Given the description of an element on the screen output the (x, y) to click on. 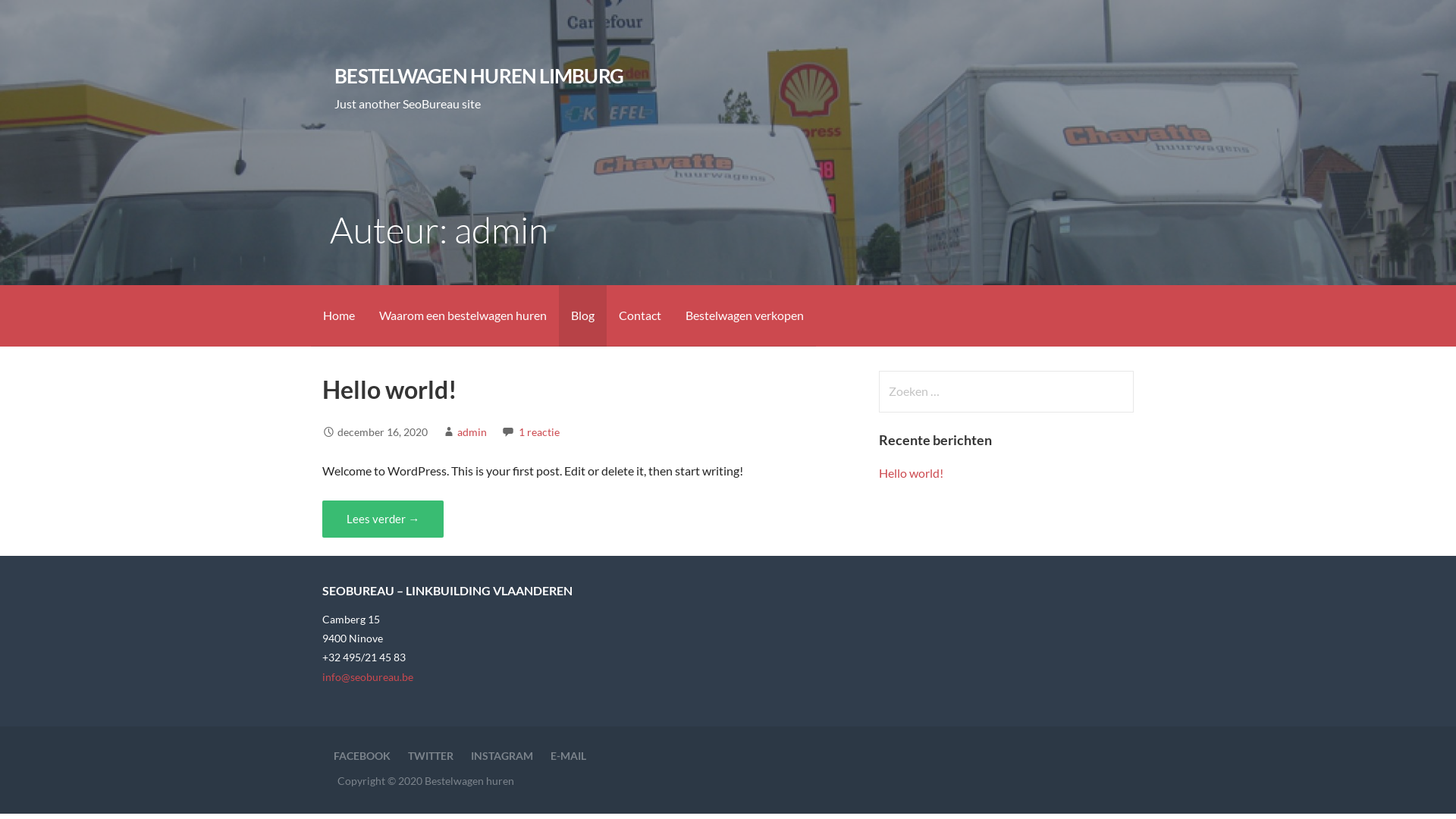
Blog Element type: text (582, 315)
Hello world! Element type: text (389, 389)
Home Element type: text (338, 315)
INSTAGRAM Element type: text (501, 755)
Bestelwagen verkopen Element type: text (744, 315)
Waarom een bestelwagen huren Element type: text (462, 315)
1 reactie Element type: text (538, 431)
FACEBOOK Element type: text (361, 755)
TWITTER Element type: text (430, 755)
Hello world! Element type: text (910, 472)
E-MAIL Element type: text (568, 755)
Contact Element type: text (639, 315)
Zoeken Element type: text (42, 18)
admin Element type: text (471, 431)
BESTELWAGEN HUREN LIMBURG Element type: text (478, 75)
info@seobureau.be Element type: text (367, 676)
